Given the description of an element on the screen output the (x, y) to click on. 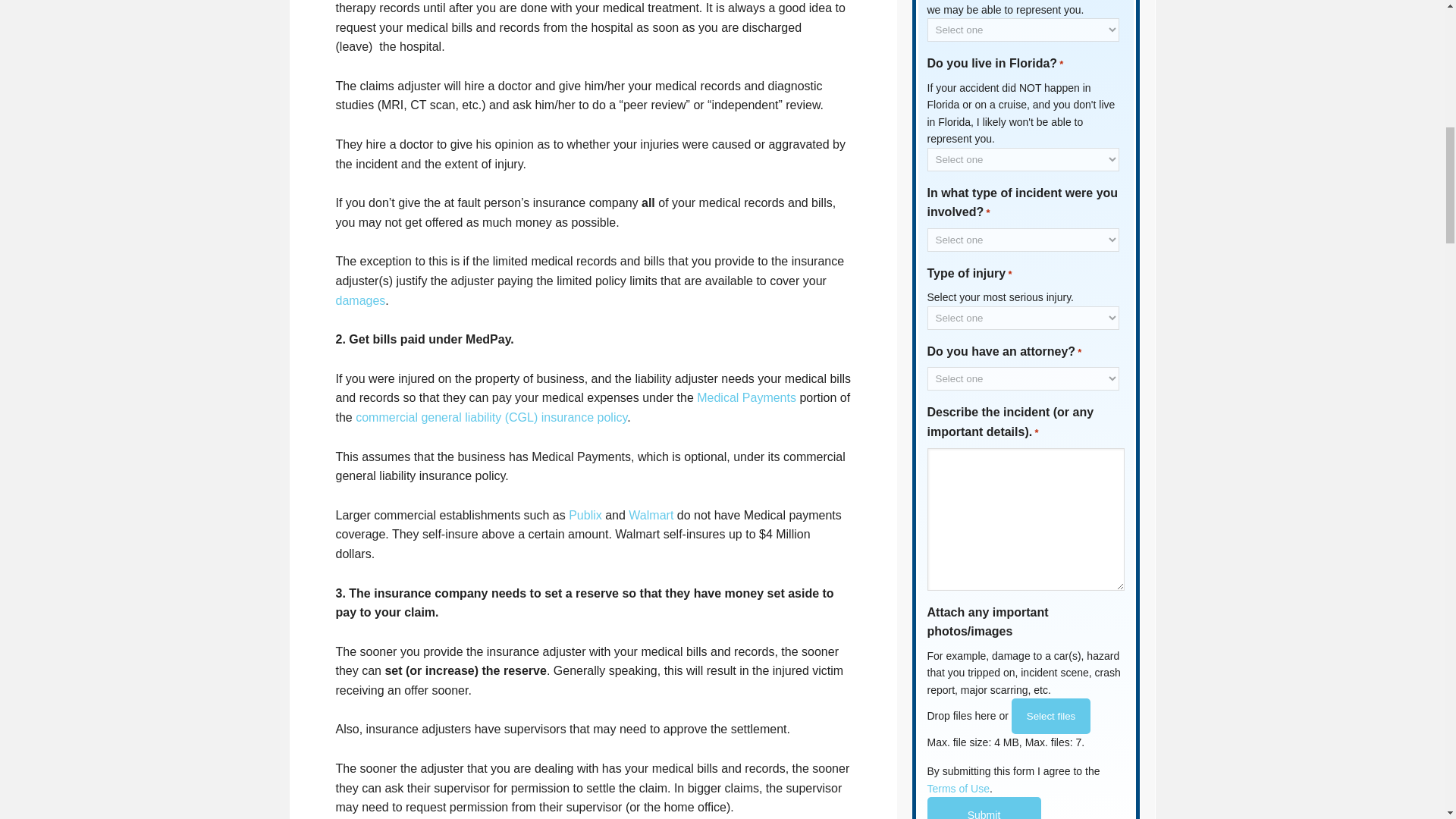
Submit (983, 807)
